Given the description of an element on the screen output the (x, y) to click on. 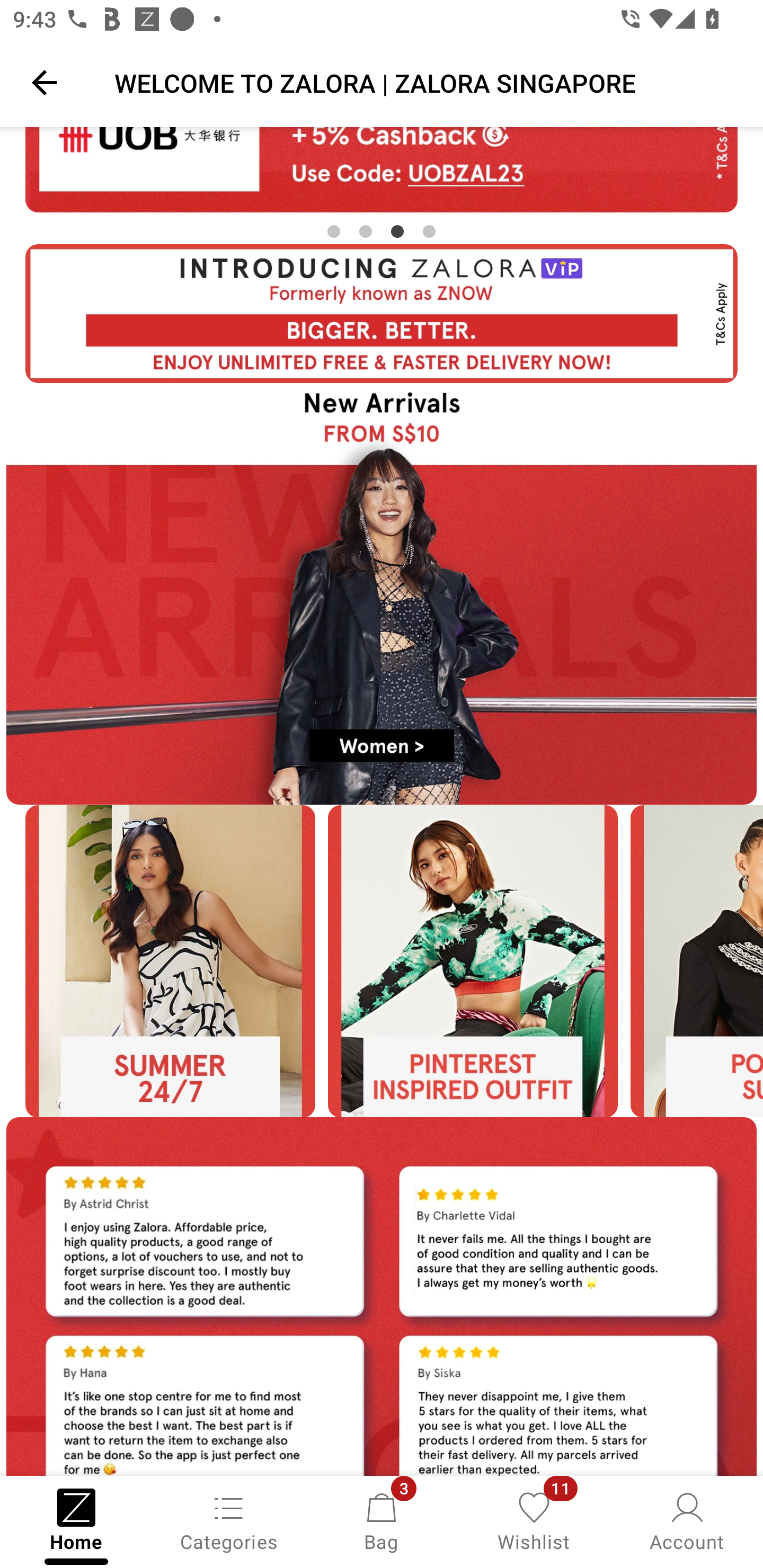
Navigate up (44, 82)
WELCOME TO ZALORA | ZALORA SINGAPORE (426, 82)
Campaign banner (381, 313)
Campaign banner (381, 593)
Campaign banner (170, 960)
Campaign banner (473, 960)
Campaign banner (381, 1295)
Categories (228, 1519)
Bag, 3 new notifications Bag (381, 1519)
Wishlist, 11 new notifications Wishlist (533, 1519)
Account (686, 1519)
